Given the description of an element on the screen output the (x, y) to click on. 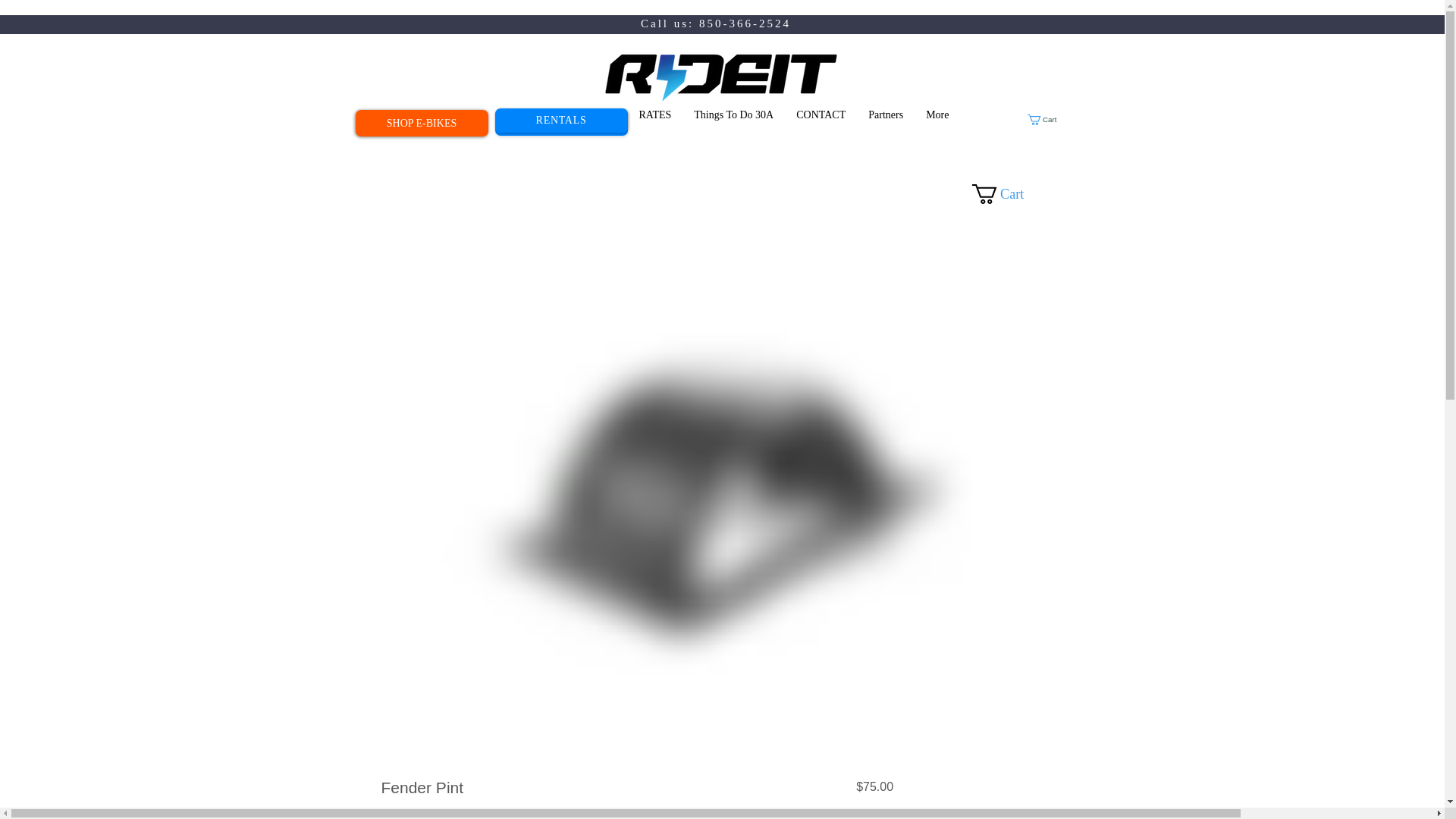
850-366-2524 (744, 23)
Cart (1048, 119)
Cart (1048, 119)
Partners (885, 122)
Cart (1015, 193)
CONTACT (820, 122)
RATES (654, 122)
Logo Rideit (719, 75)
Cart (1015, 193)
RENTALS (561, 121)
RENTALS (561, 120)
SHOP E-BIKES (421, 122)
Things To Do 30A (733, 122)
